Given the description of an element on the screen output the (x, y) to click on. 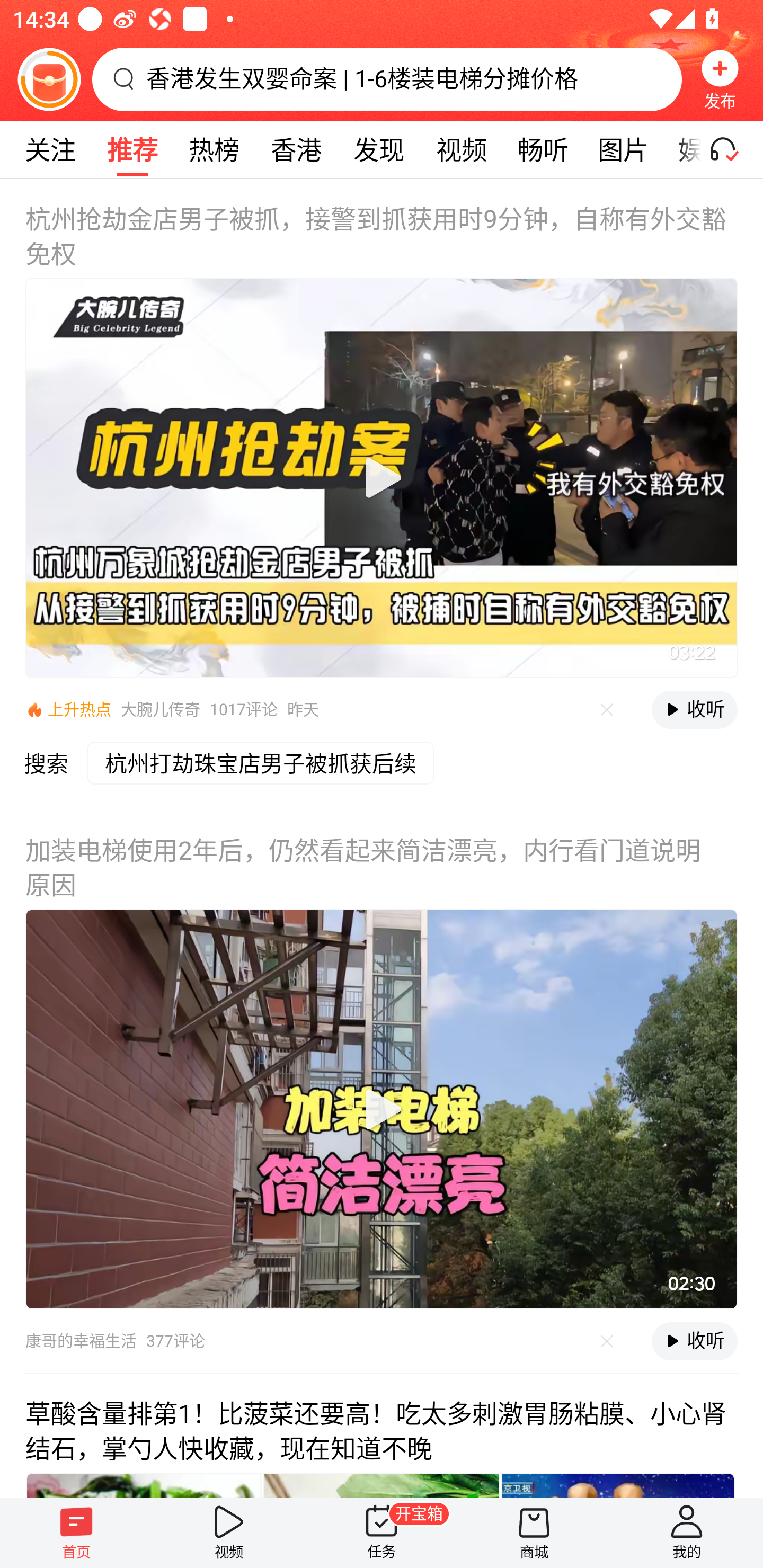
阅读赚金币 (48, 79)
香港发生双婴命案 | 1-6楼装电梯分摊价格 搜索框，香港发生双婴命案 | 1-6楼装电梯分摊价格 (387, 79)
发布 发布，按钮 (720, 78)
关注 (50, 149)
推荐 (132, 149)
热榜 (213, 149)
香港 (295, 149)
发现 (378, 149)
视频 (461, 149)
畅听 (542, 149)
图片 (623, 149)
听一听开关 (732, 149)
播放视频 视频播放器，双击屏幕打开播放控制 (381, 477)
播放视频 (381, 477)
收听 (694, 710)
不感兴趣 (607, 710)
杭州打劫珠宝店男子被抓获后续 (266, 775)
播放视频 视频播放器，双击屏幕打开播放控制 (381, 1109)
播放视频 (381, 1108)
收听 (694, 1341)
不感兴趣 (607, 1340)
首页 (76, 1532)
视频 (228, 1532)
任务 开宝箱 (381, 1532)
商城 (533, 1532)
我的 (686, 1532)
